Given the description of an element on the screen output the (x, y) to click on. 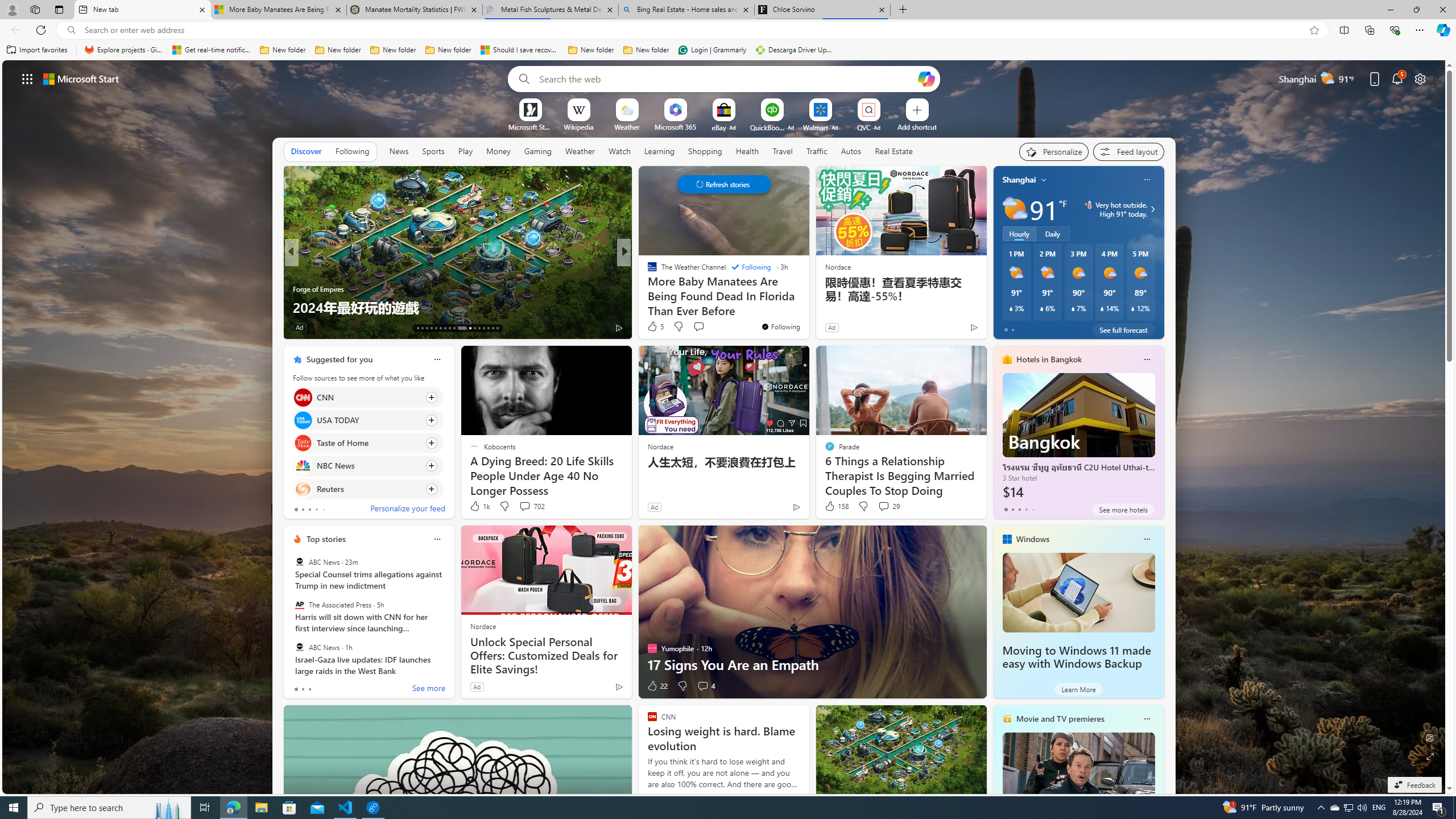
App launcher (27, 78)
Shopping (705, 151)
Personalize your feed" (1054, 151)
Windows (1032, 538)
Click to follow source NBC News (367, 465)
Travel (782, 151)
View comments 19 Comment (703, 327)
Daily (1052, 233)
1k Like (478, 505)
View comments 4 Comment (705, 685)
